Given the description of an element on the screen output the (x, y) to click on. 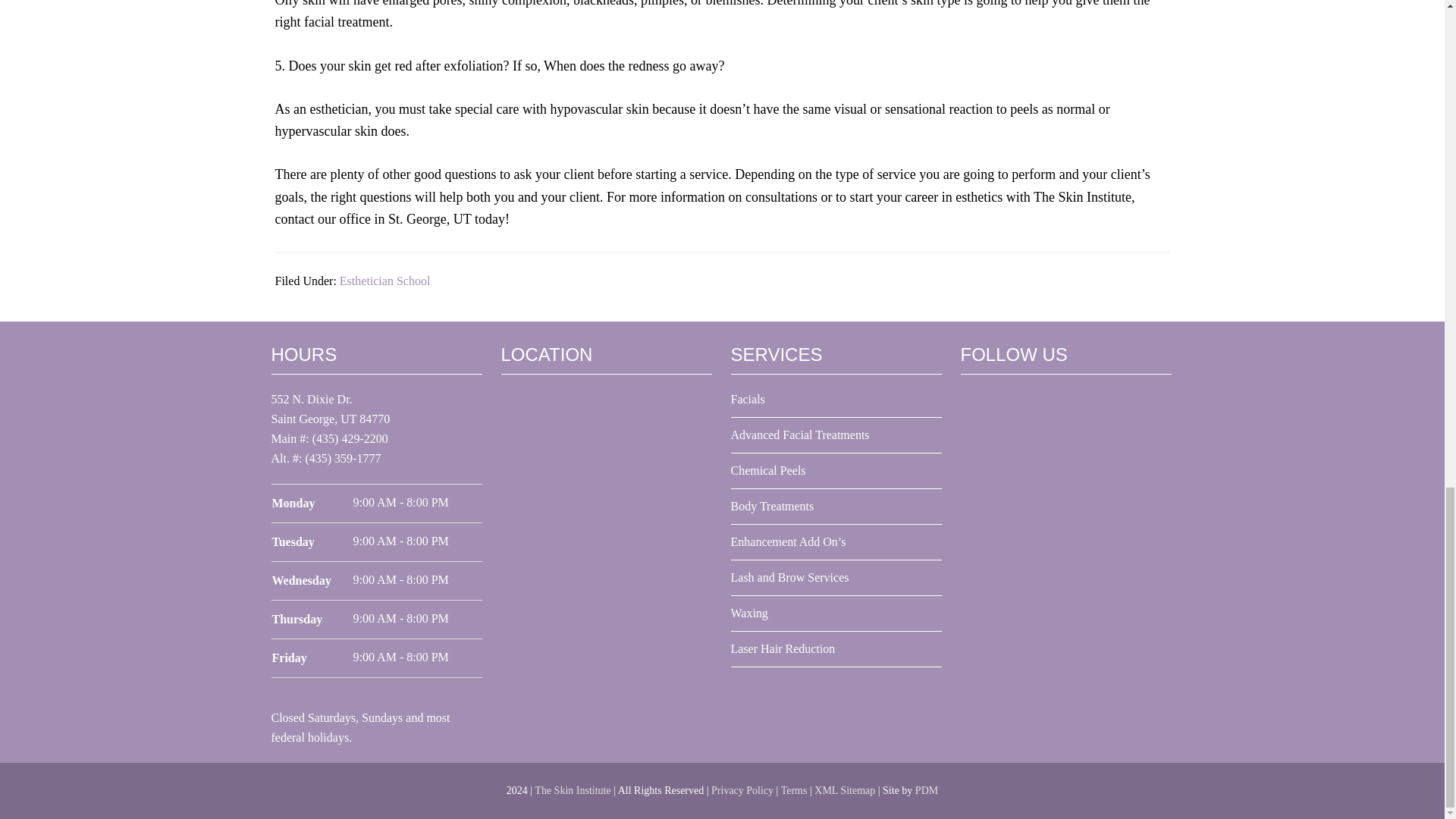
Body Treatments (771, 505)
Facials (747, 399)
Ogden SEO (926, 790)
Chemical Peels (768, 470)
Lash and Brow Services (789, 576)
Advanced Facial Treatments (799, 434)
Laser Hair Reduction (782, 648)
Esthetician School (384, 280)
Waxing (749, 612)
